Given the description of an element on the screen output the (x, y) to click on. 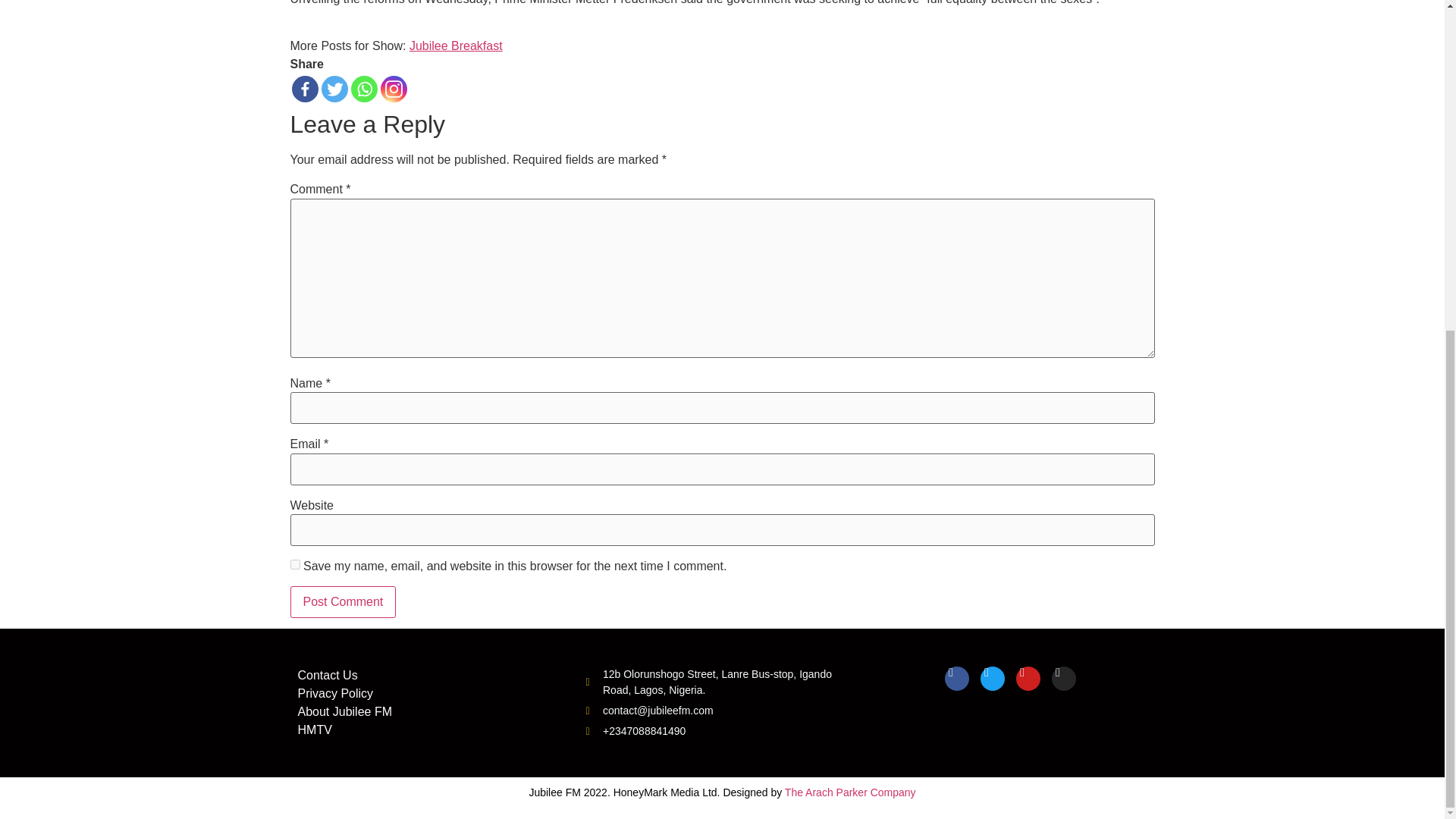
Twitter (334, 89)
The Arach Parker Company (849, 792)
yes (294, 564)
Whatsapp (363, 89)
Post Comment (342, 602)
HMTV (314, 730)
Contact Us (326, 675)
Facebook (304, 89)
Post Comment (342, 602)
Jubilee Breakfast (455, 45)
About Jubilee FM (344, 711)
Instagram (393, 89)
Privacy Policy (334, 693)
